Given the description of an element on the screen output the (x, y) to click on. 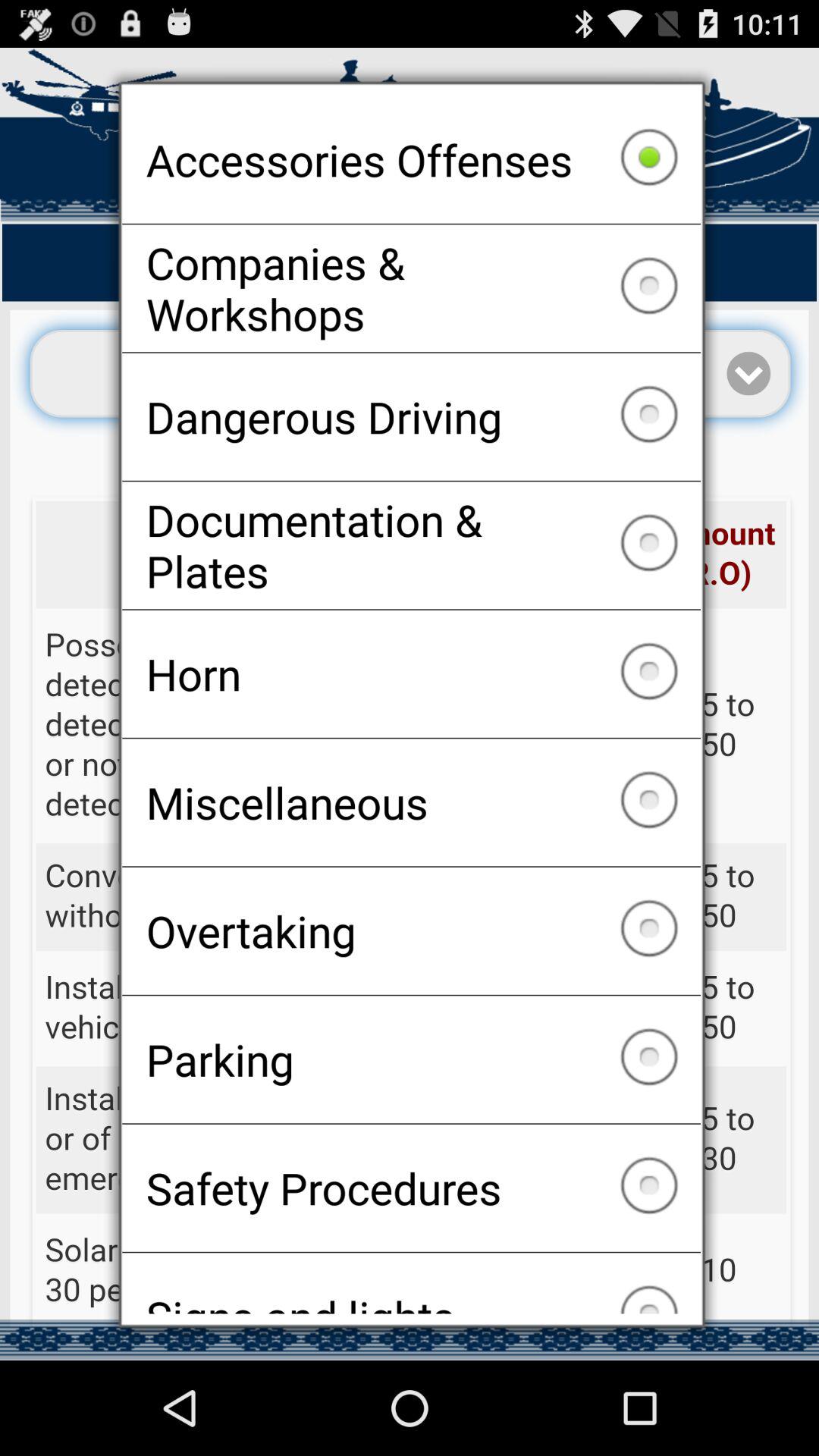
flip to the accessories offenses icon (411, 159)
